Given the description of an element on the screen output the (x, y) to click on. 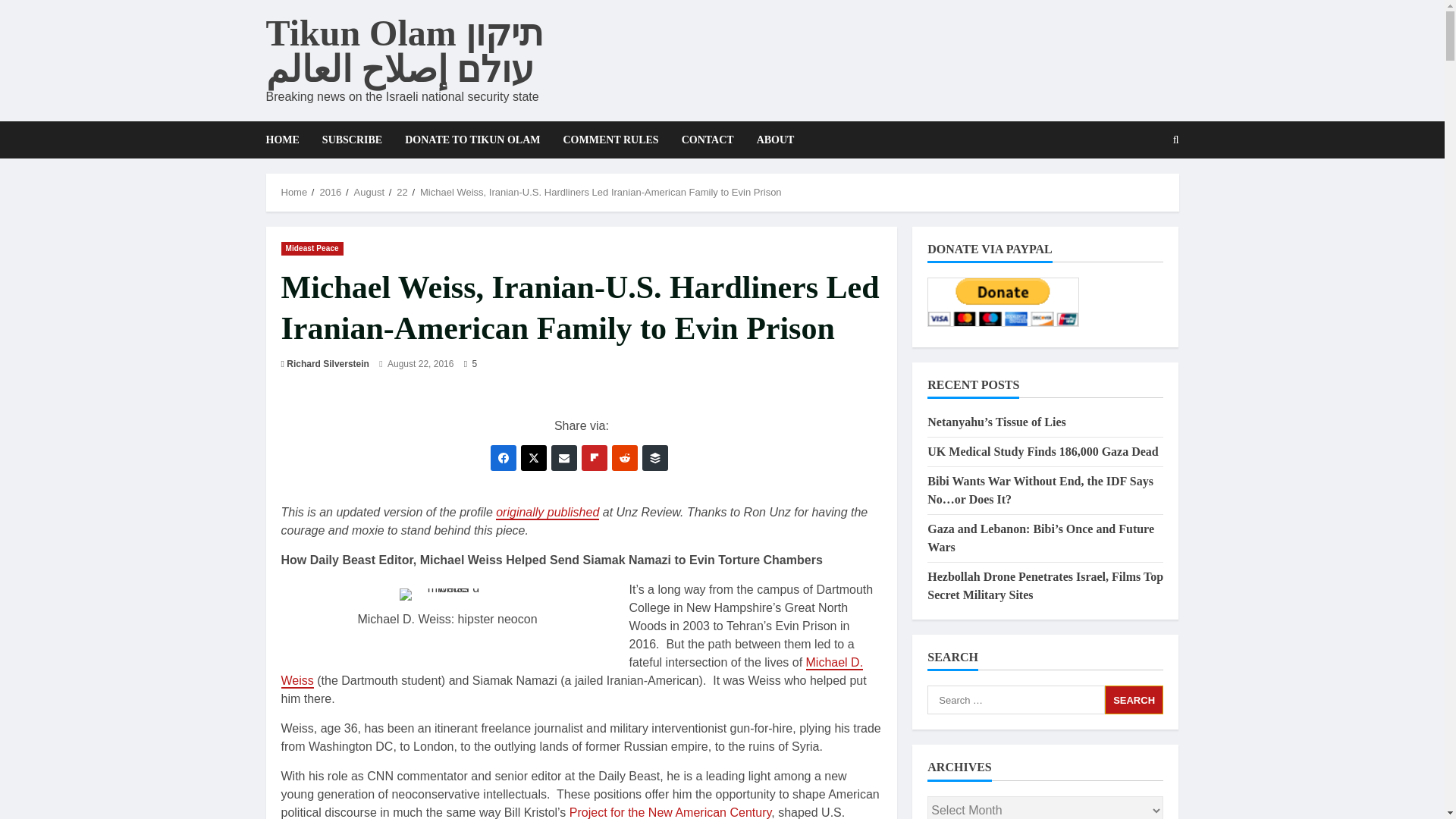
CONTACT (707, 139)
5 (470, 364)
originally published (547, 513)
Search (1134, 699)
DONATE TO TIKUN OLAM (472, 139)
2016 (329, 192)
Richard Silverstein (327, 364)
PayPal - The safer, easier way to pay online! (1002, 301)
August (368, 192)
Search (1134, 699)
ABOUT (769, 139)
Mideast Peace (311, 247)
SUBSCRIBE (352, 139)
22 (401, 192)
